Given the description of an element on the screen output the (x, y) to click on. 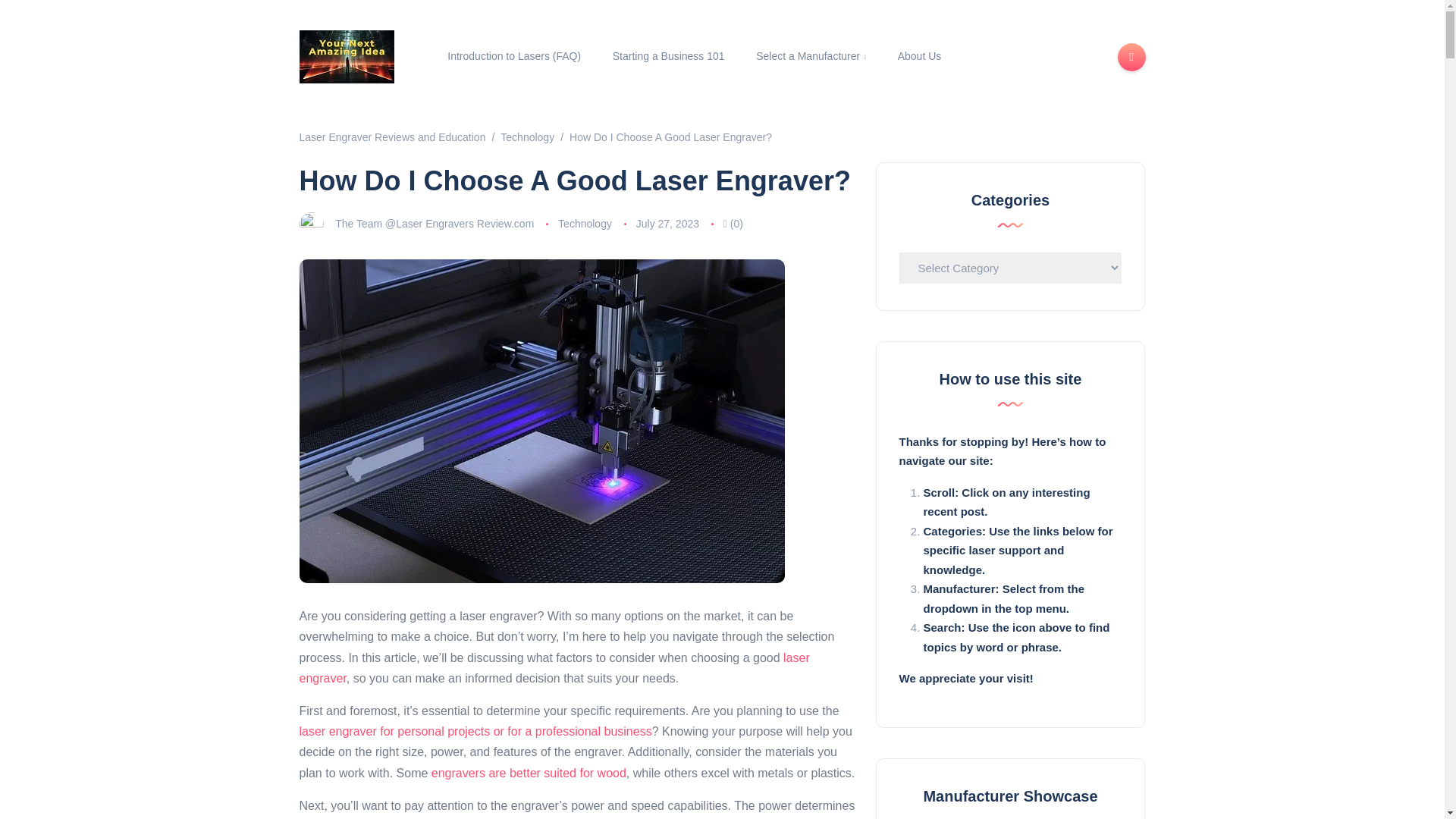
Go to Laser Engraver Reviews and Education. (391, 137)
Go to the Technology Category archives. (527, 137)
